Given the description of an element on the screen output the (x, y) to click on. 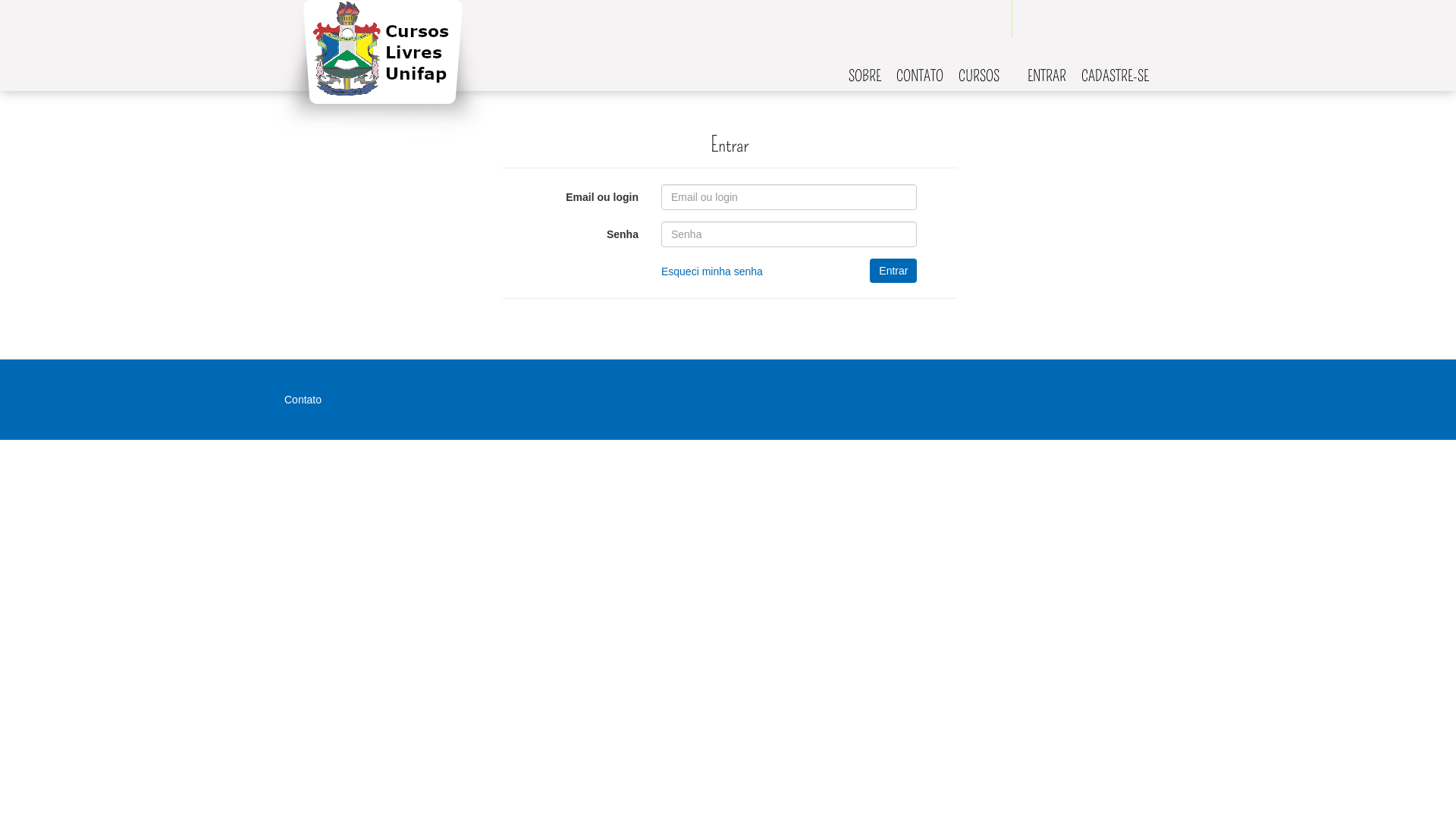
Esqueci minha senha Element type: text (711, 271)
ENTRAR Element type: text (1046, 75)
CONTATO Element type: text (919, 75)
CADASTRE-SE Element type: text (1114, 75)
CURSOS Element type: text (978, 75)
Contato Element type: text (302, 399)
Entrar Element type: text (892, 270)
SOBRE Element type: text (864, 75)
LOCALHOST Element type: text (381, 69)
